Given the description of an element on the screen output the (x, y) to click on. 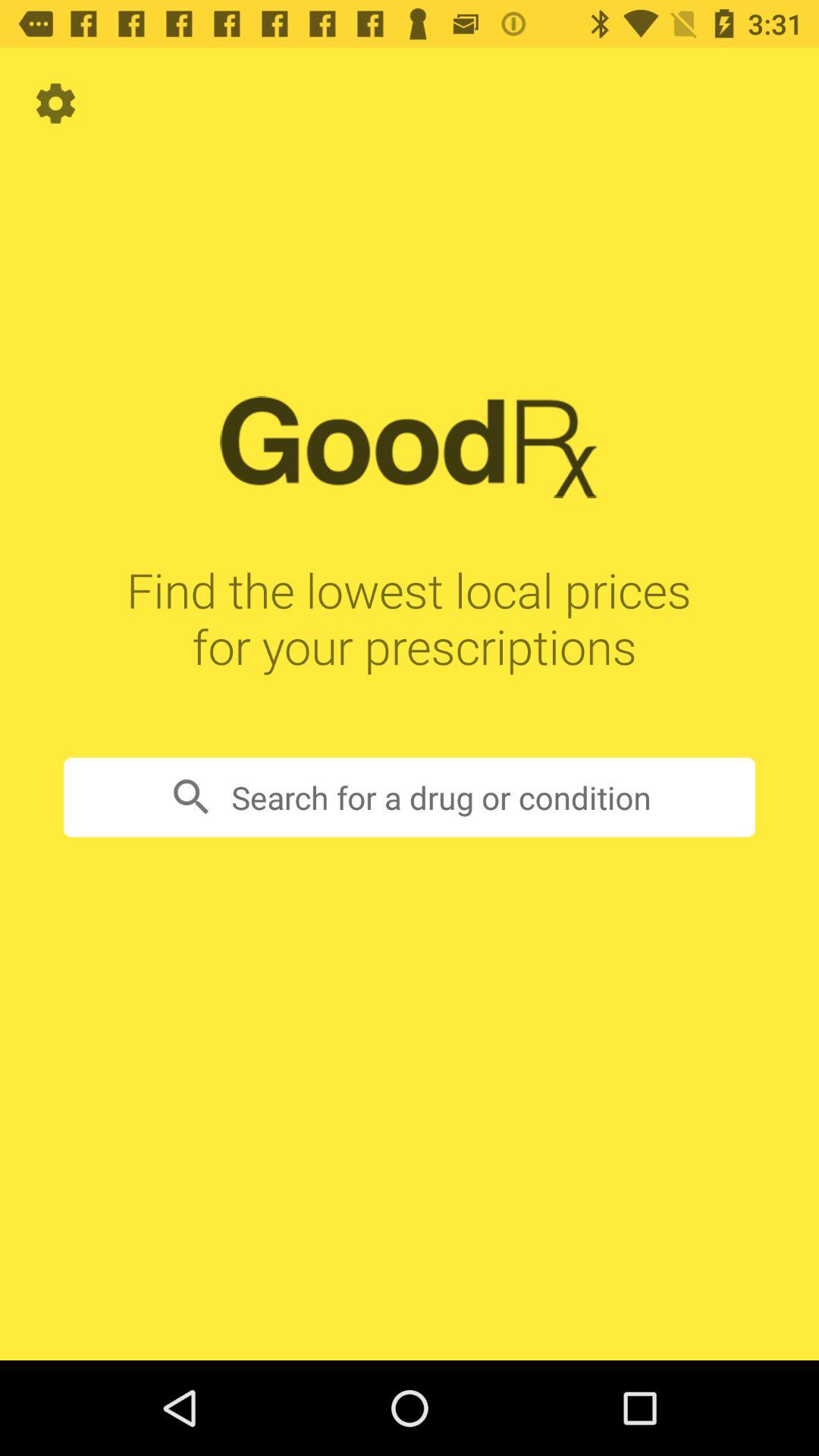
select the item above find the lowest item (55, 103)
